Given the description of an element on the screen output the (x, y) to click on. 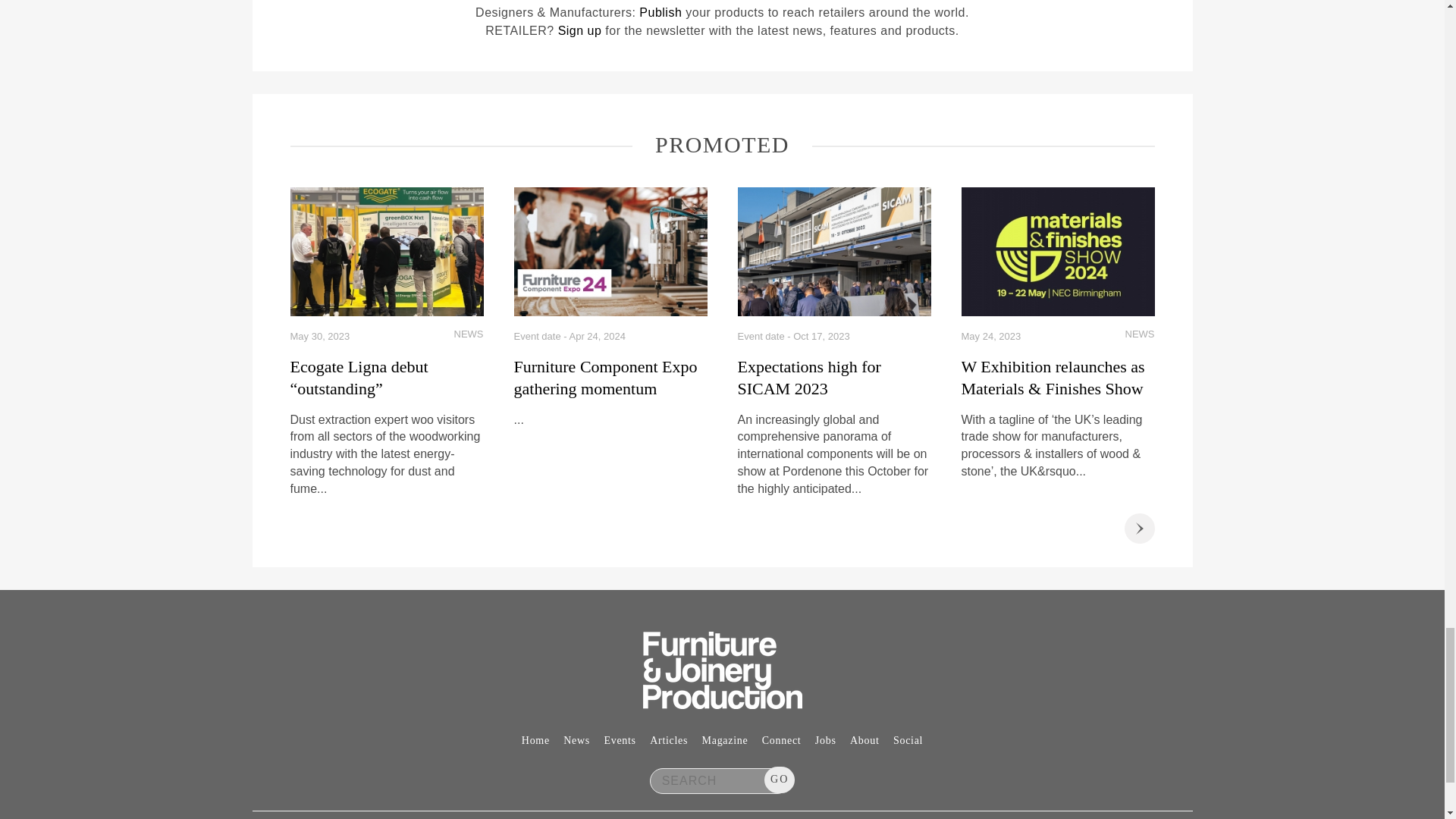
go (779, 779)
